Given the description of an element on the screen output the (x, y) to click on. 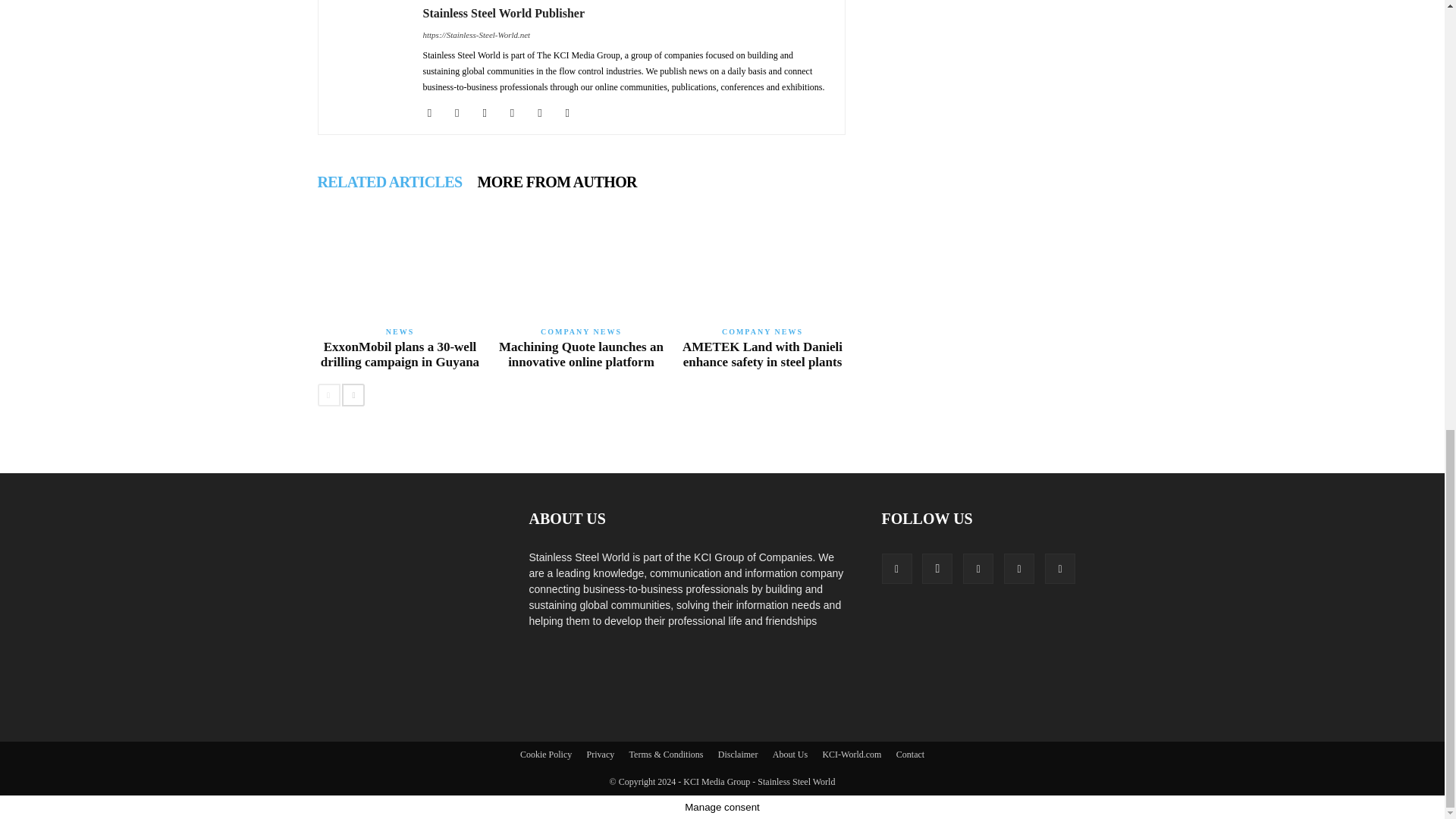
Facebook (435, 113)
Linkedin (462, 113)
